Given the description of an element on the screen output the (x, y) to click on. 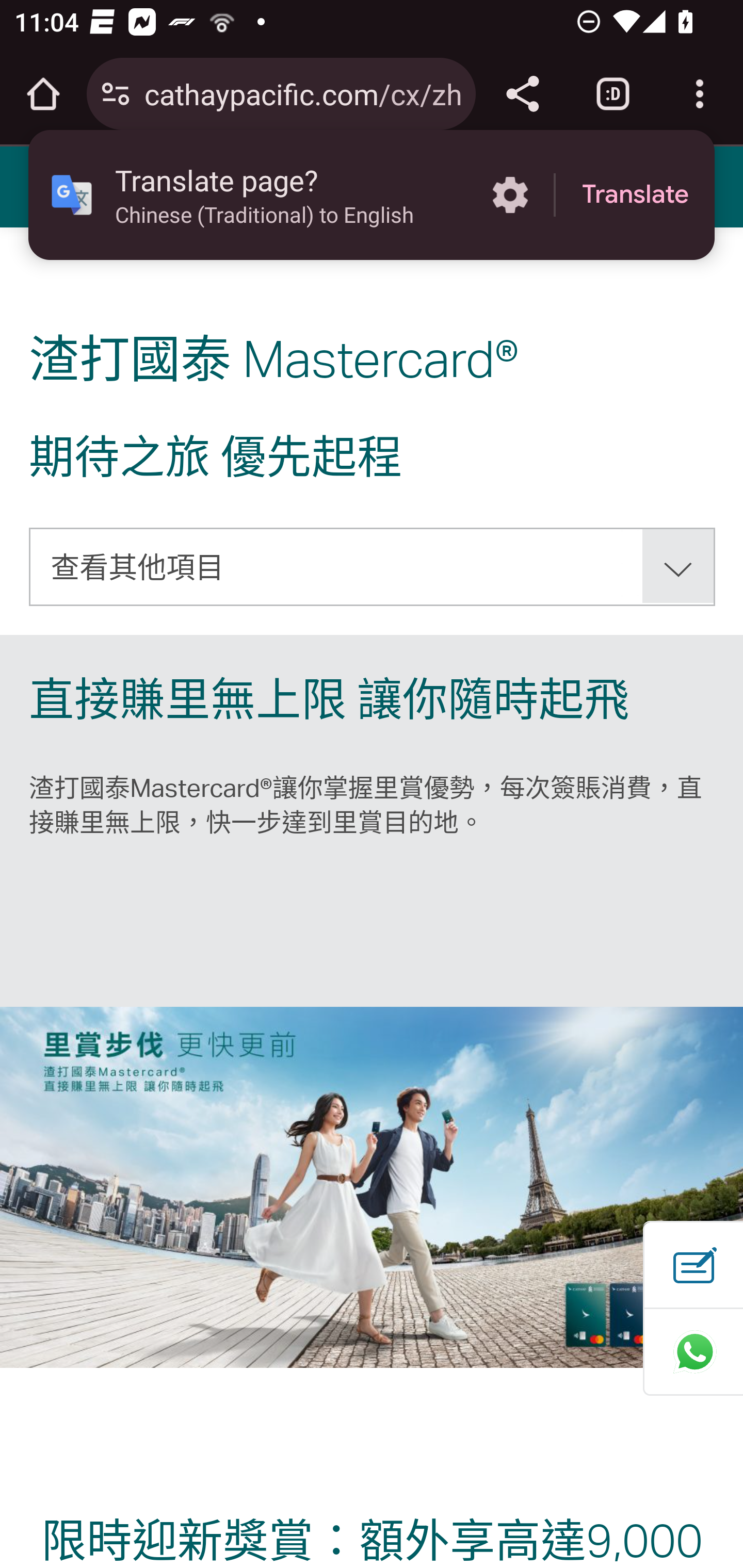
Open the home page (43, 93)
Connection is secure (115, 93)
Share (522, 93)
Switch or close tabs (612, 93)
Customize and control Google Chrome (699, 93)
Translate (634, 195)
功能表 (47, 186)
More options in the Translate page? (509, 195)
查看其他項目 (372, 566)
